Given the description of an element on the screen output the (x, y) to click on. 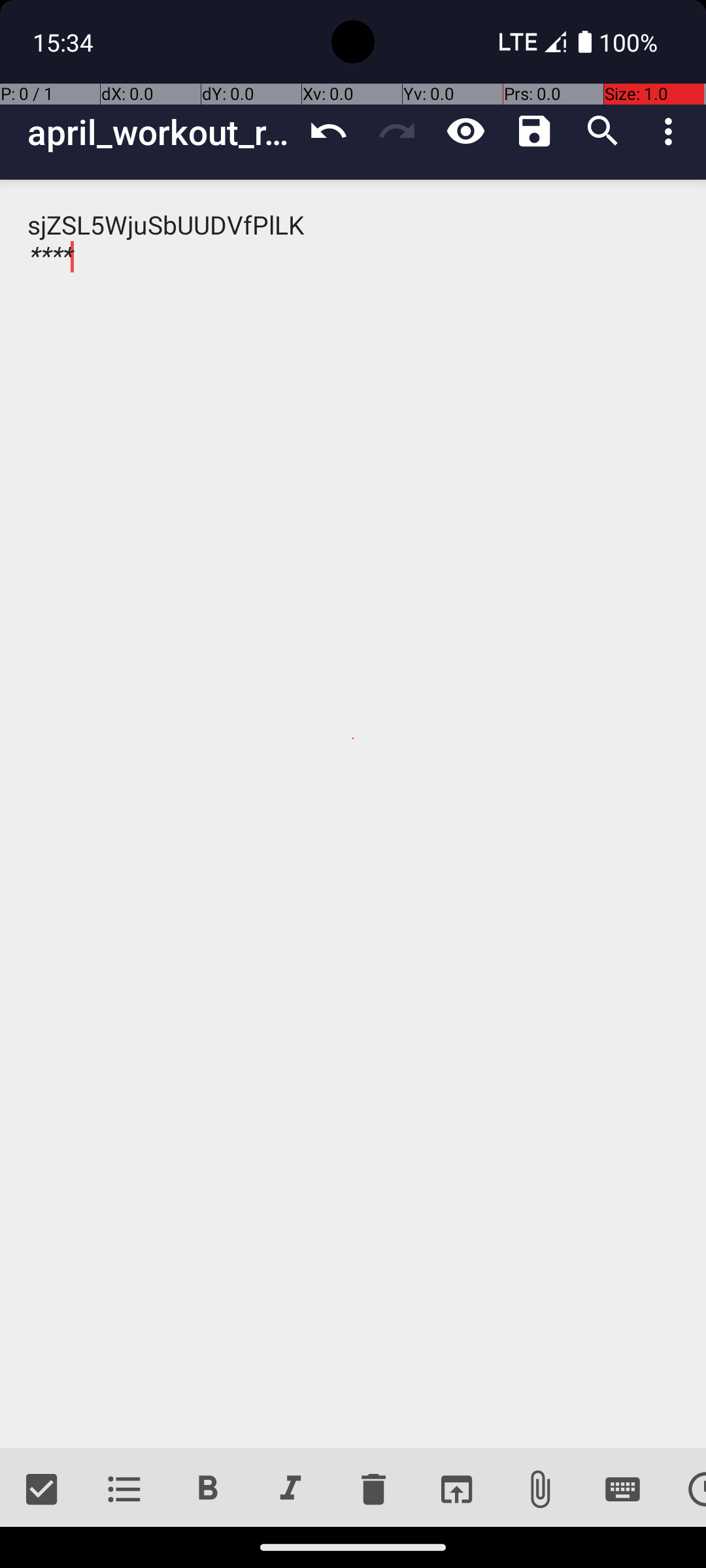
april_workout_routine_final Element type: android.widget.TextView (160, 131)
sjZSL5WjuSbUUDVfPlLK
**** Element type: android.widget.EditText (353, 813)
